Given the description of an element on the screen output the (x, y) to click on. 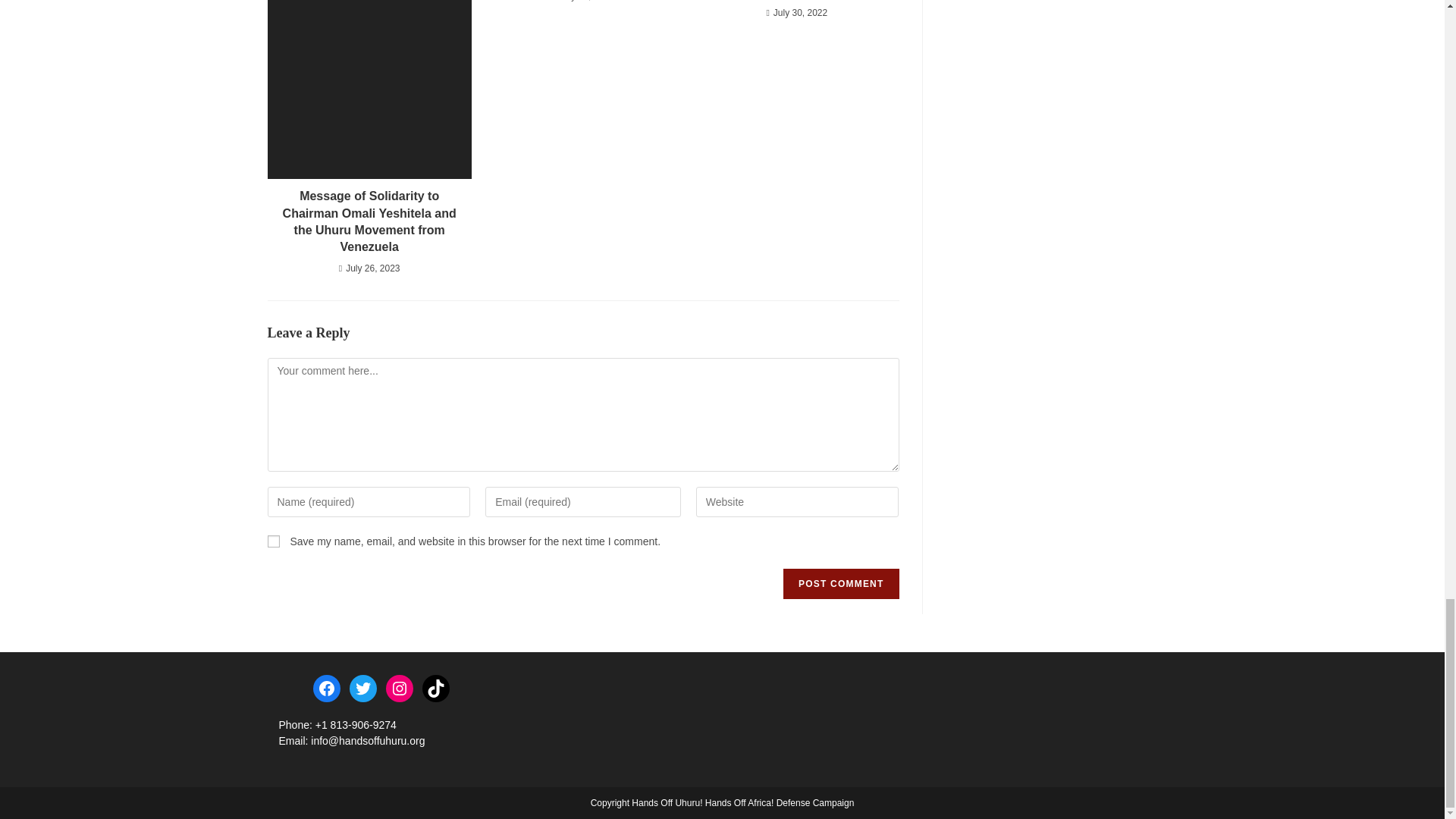
Post Comment (840, 583)
yes (272, 541)
